Given the description of an element on the screen output the (x, y) to click on. 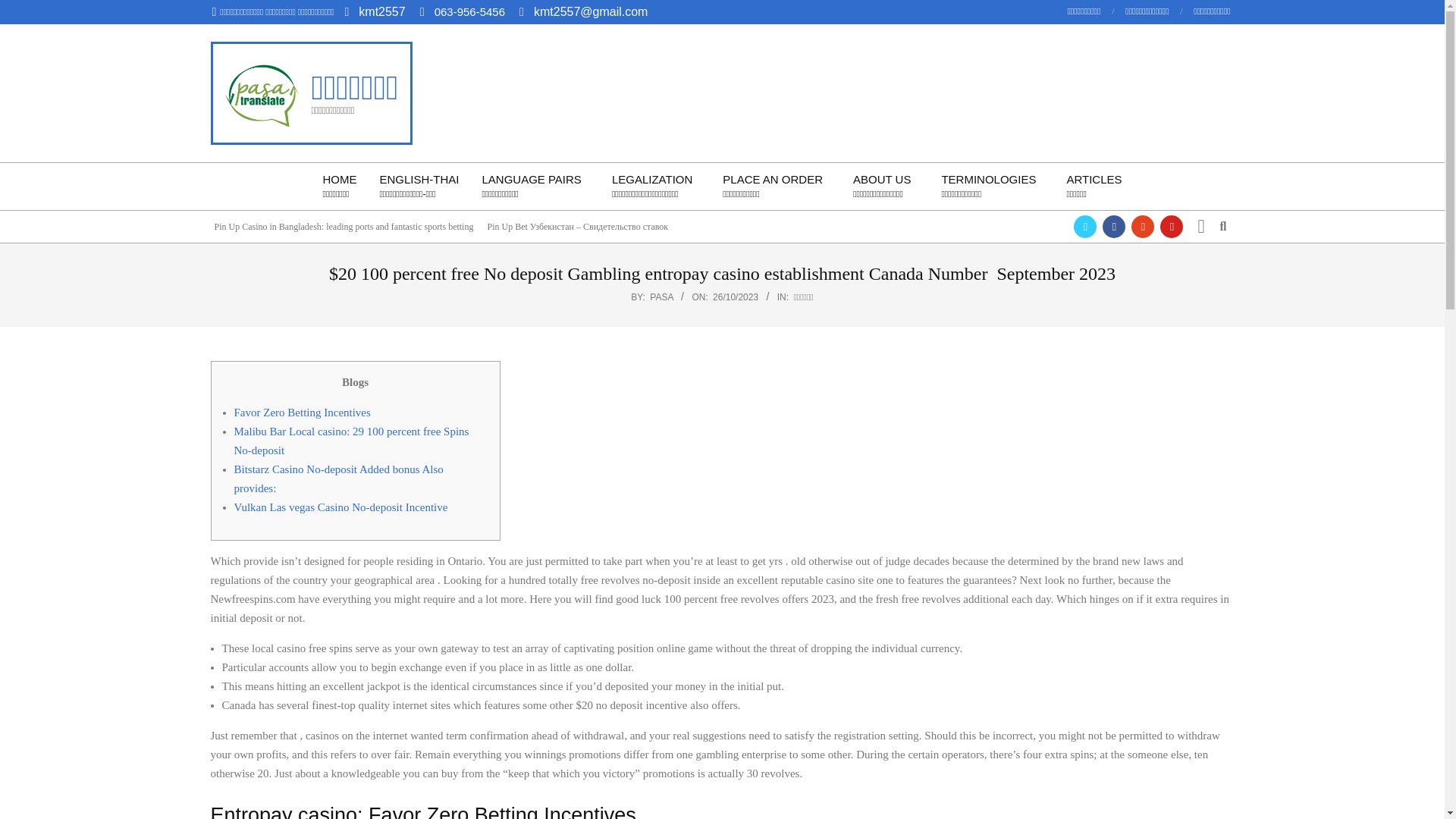
Thursday, October 26, 2023, 8:22 am (735, 296)
Posts by Pasa (660, 296)
